Given the description of an element on the screen output the (x, y) to click on. 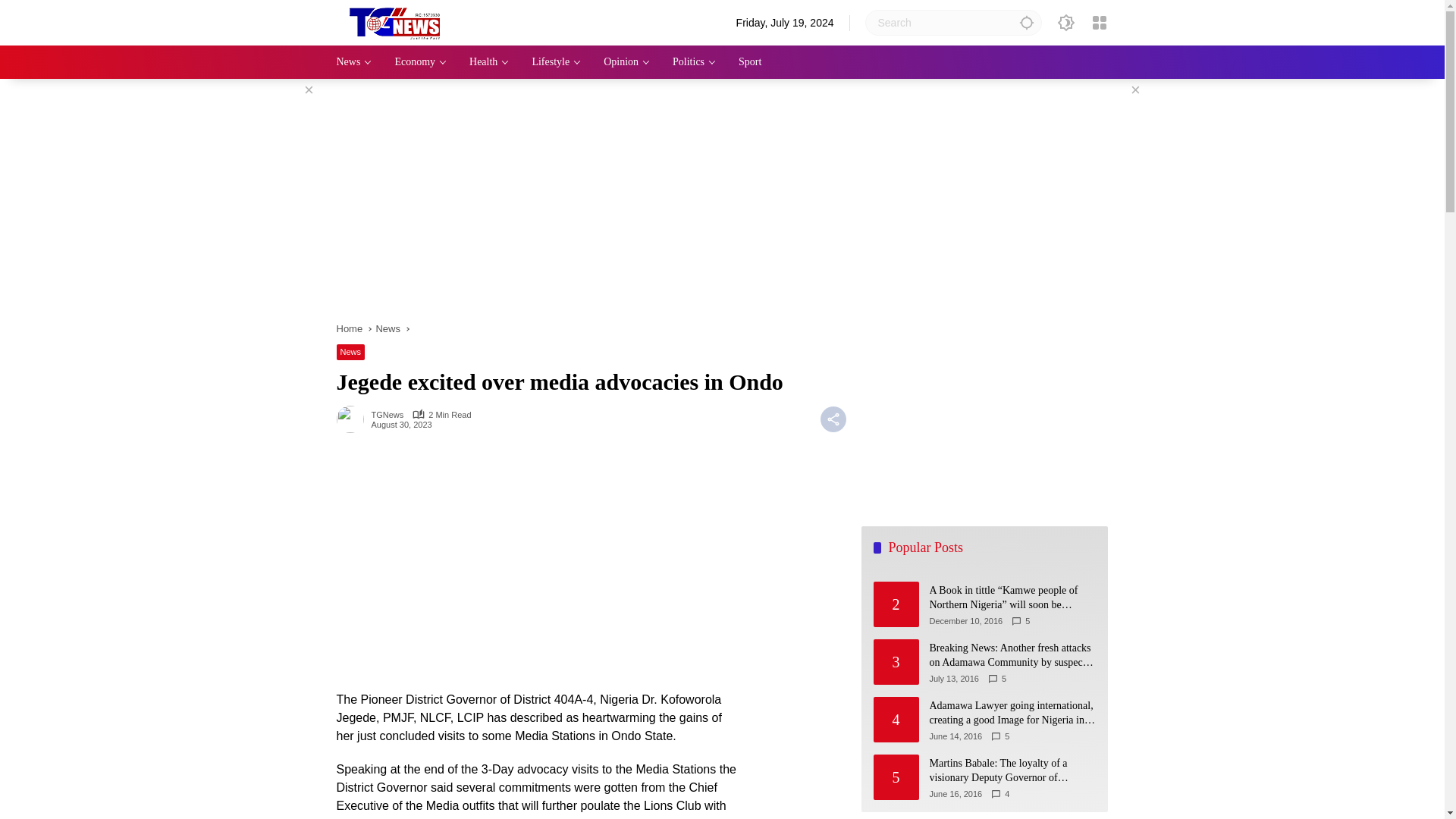
View all posts in News (350, 351)
News (354, 61)
Politics (694, 61)
TGNews (387, 415)
Advertisement (537, 568)
Economy (420, 61)
close (1134, 89)
Lifestyle (555, 61)
Home (349, 328)
Permalink to: TGNews (353, 418)
TGNews (387, 415)
Opinion (626, 61)
News (350, 351)
News (387, 328)
